Given the description of an element on the screen output the (x, y) to click on. 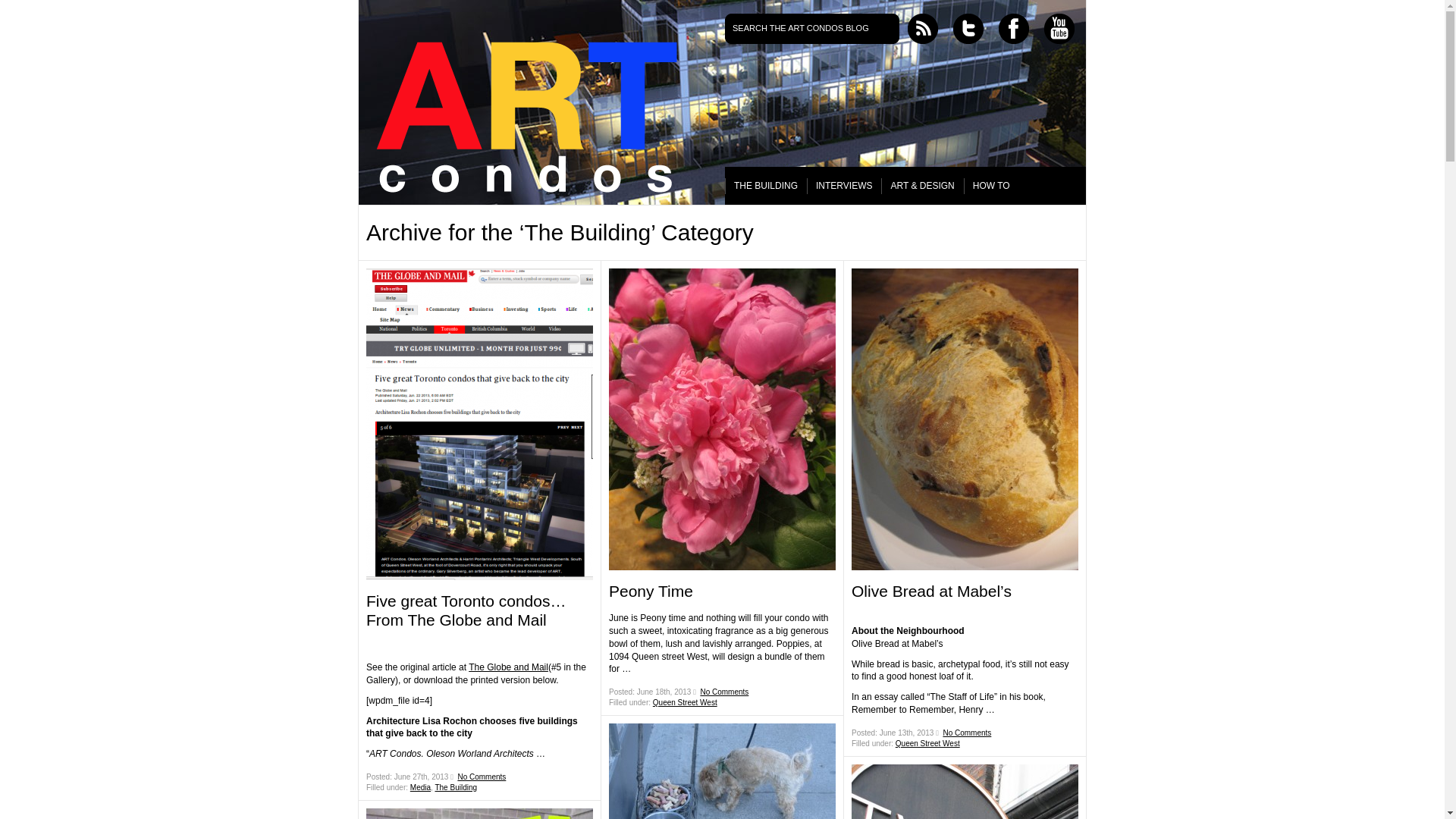
The Building Element type: text (455, 787)
Peony Time Element type: text (650, 590)
No Comments Element type: text (723, 691)
ART & DESIGN Element type: text (922, 185)
INTERVIEWS Element type: text (843, 185)
Five great Toronto condos... From The Globe and Mail Element type: hover (479, 424)
Queen Street West Element type: text (927, 743)
Queen Street West Element type: text (684, 702)
HOW TO Element type: text (991, 185)
THE BUILDING Element type: text (765, 185)
Media Element type: text (420, 787)
Peony Time Element type: hover (721, 419)
The Globe and Mail Element type: text (508, 667)
No Comments Element type: text (966, 732)
No Comments Element type: text (481, 776)
